Given the description of an element on the screen output the (x, y) to click on. 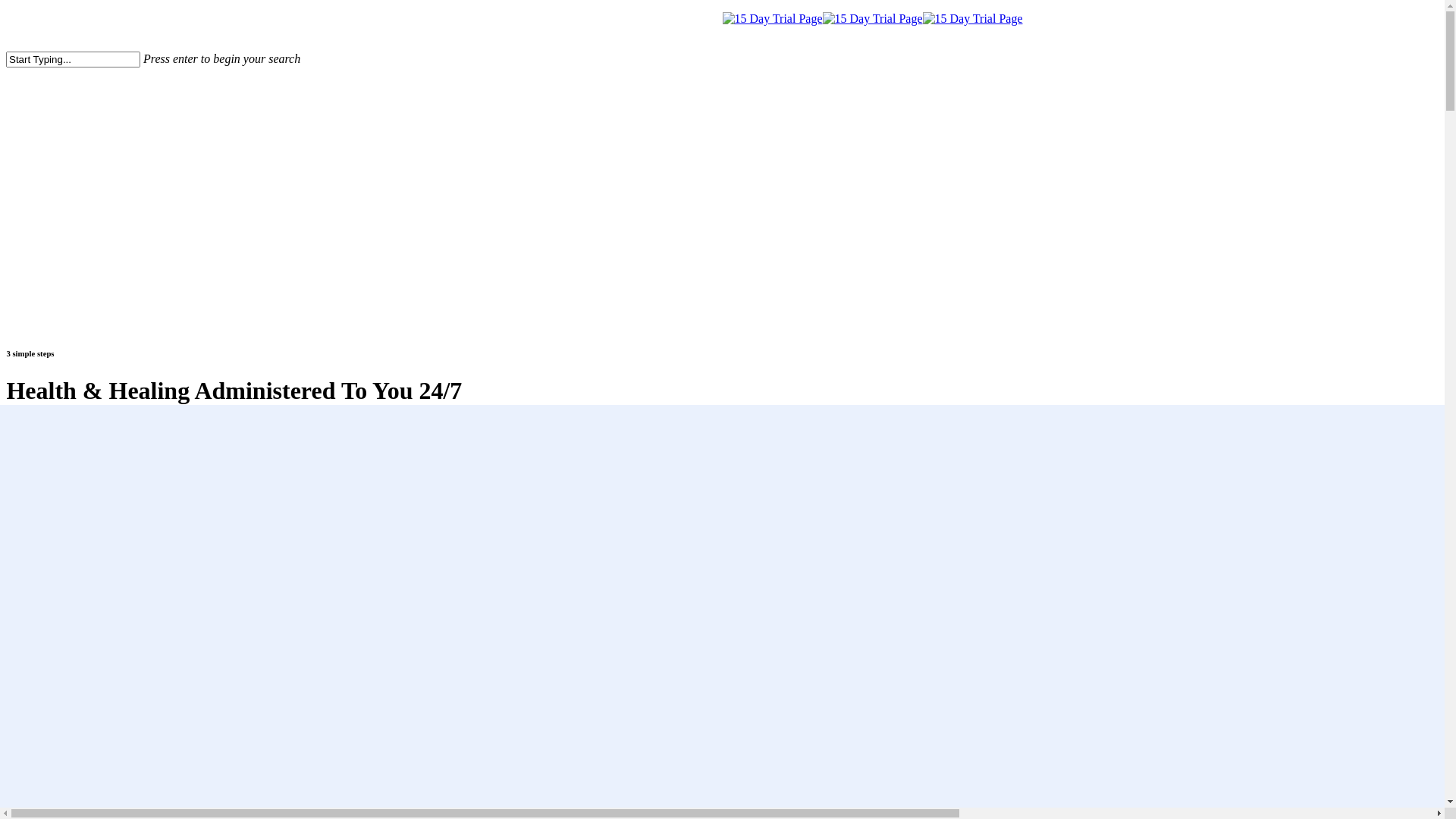
Skip to main content Element type: text (5, 11)
